Given the description of an element on the screen output the (x, y) to click on. 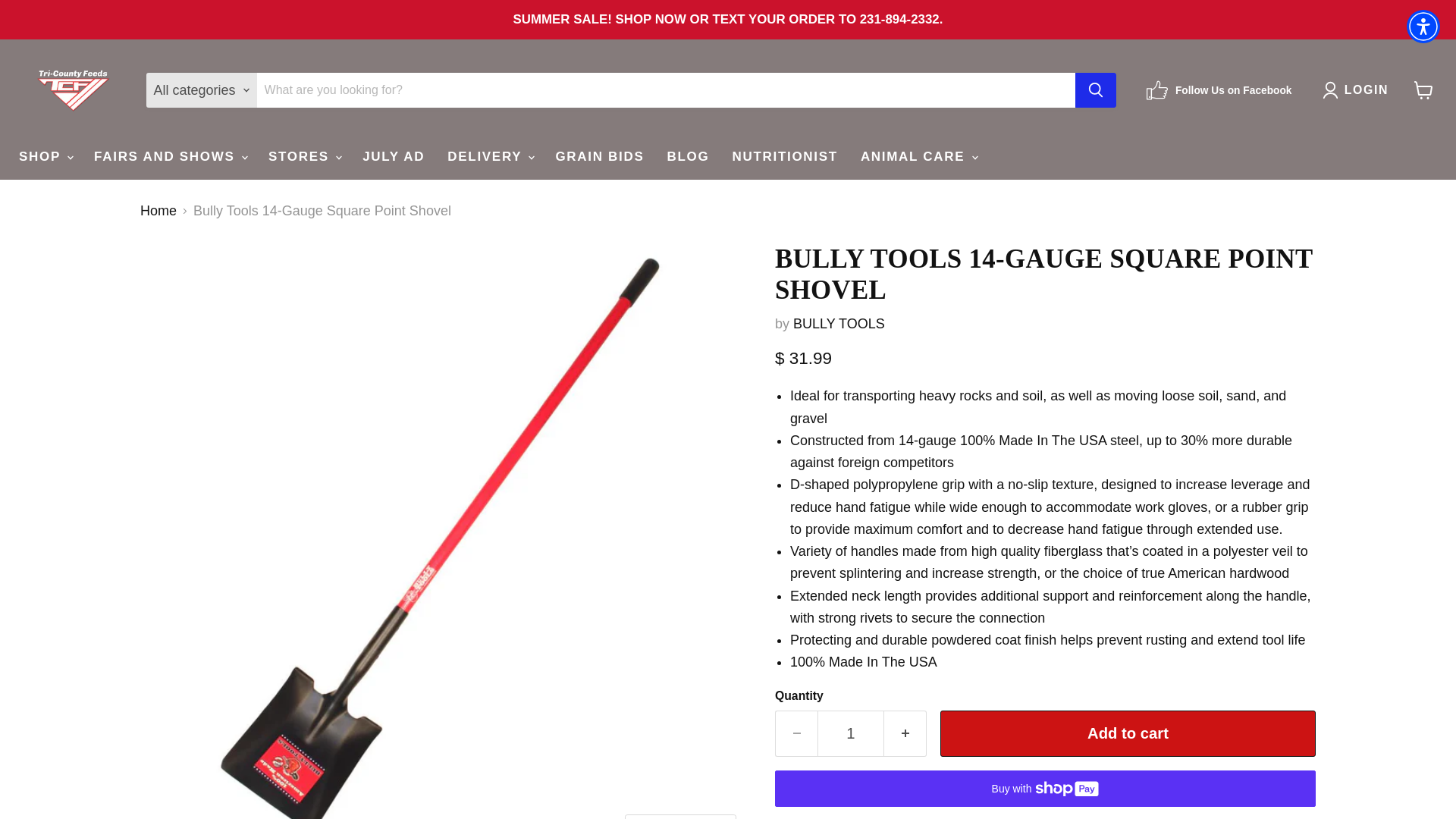
View cart (1423, 90)
BULLY TOOLS (839, 323)
Accessibility Menu (1422, 26)
1 (849, 733)
Follow Us on Facebook (1219, 89)
LOGIN (1358, 90)
